Given the description of an element on the screen output the (x, y) to click on. 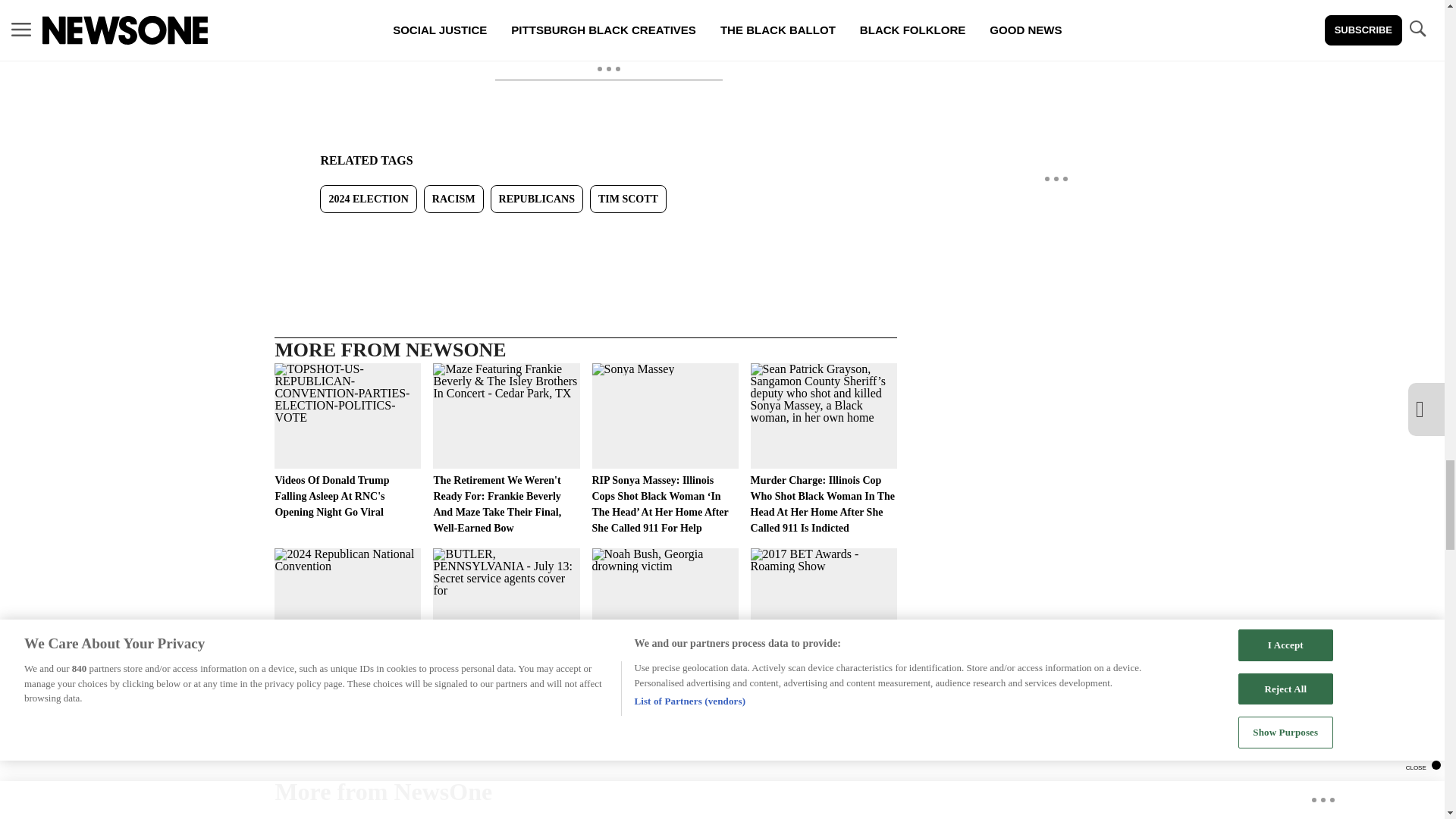
Vuukle Sharebar Widget (585, 237)
